Given the description of an element on the screen output the (x, y) to click on. 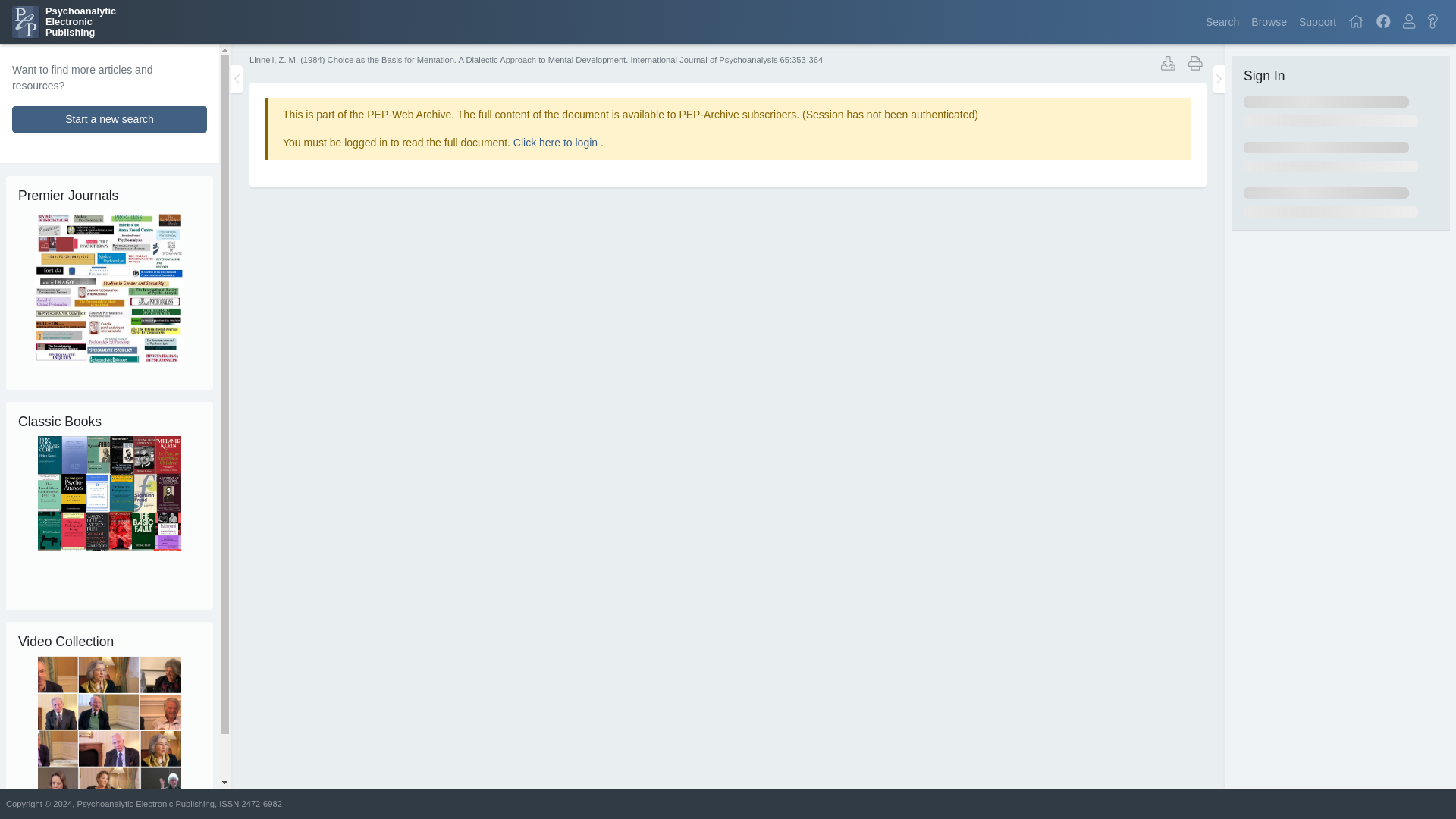
Support (1317, 22)
Click here to login (556, 142)
Search (1221, 22)
Home (1356, 22)
Start a new search (63, 21)
Support (108, 119)
Browse (1317, 22)
PEP Facebook Page (1268, 22)
